Given the description of an element on the screen output the (x, y) to click on. 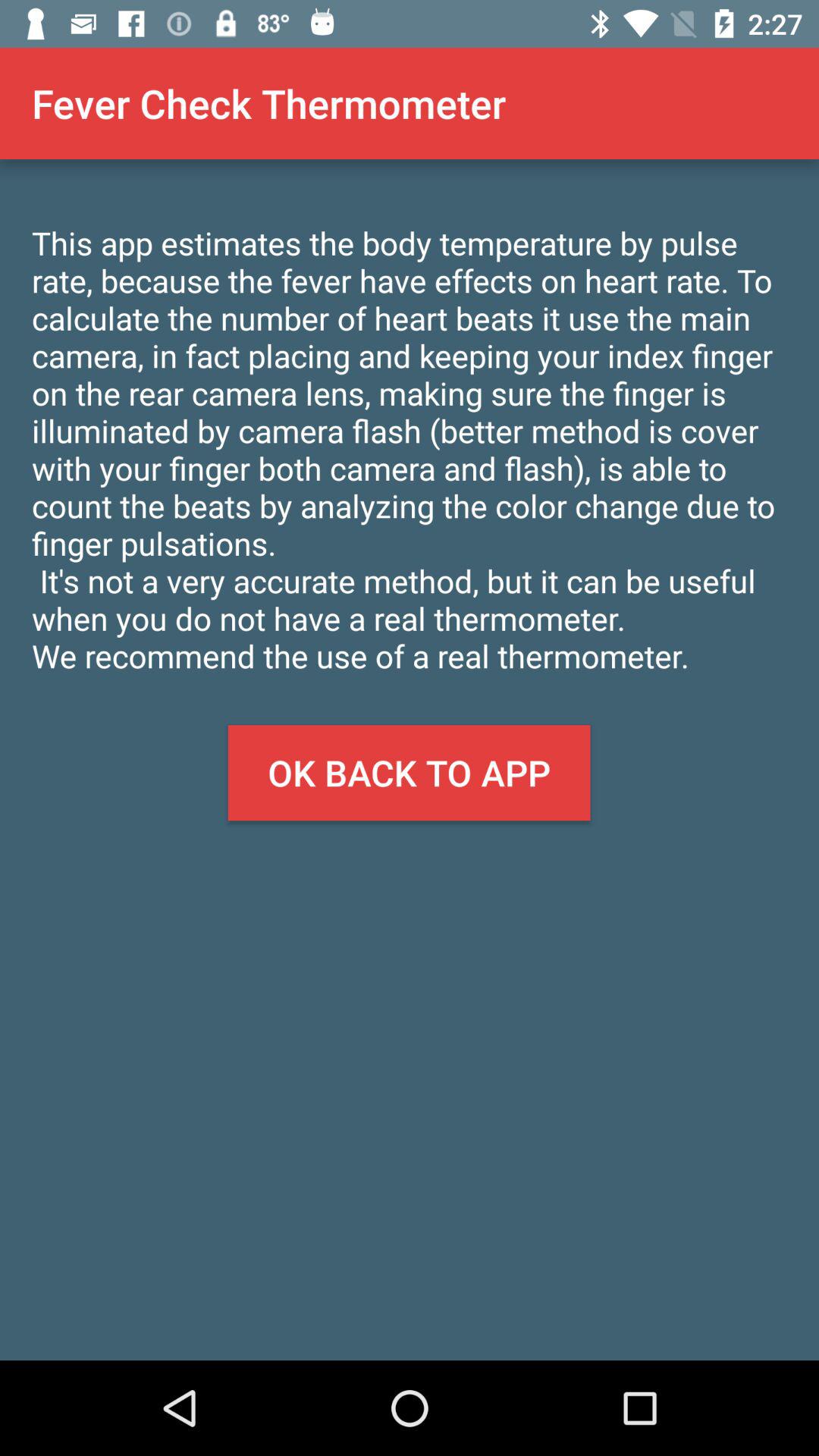
click the item below the this app estimates app (409, 772)
